Given the description of an element on the screen output the (x, y) to click on. 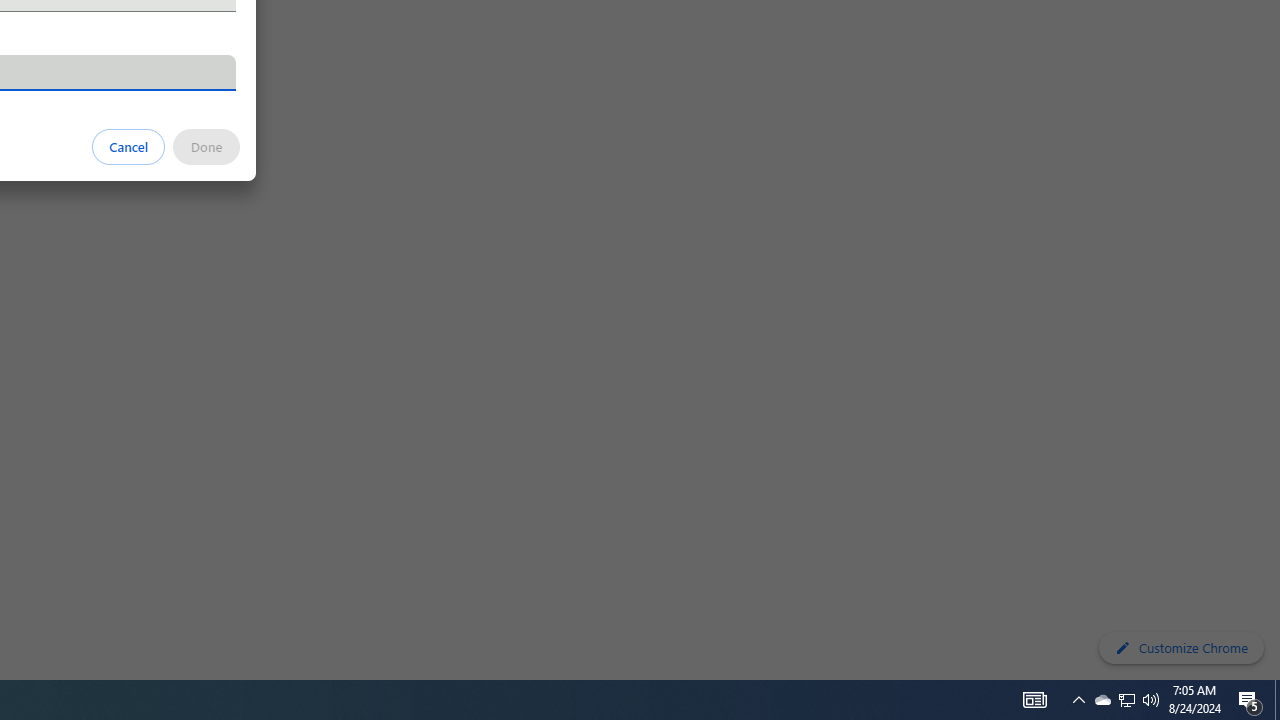
Done (206, 146)
Cancel (129, 146)
